Given the description of an element on the screen output the (x, y) to click on. 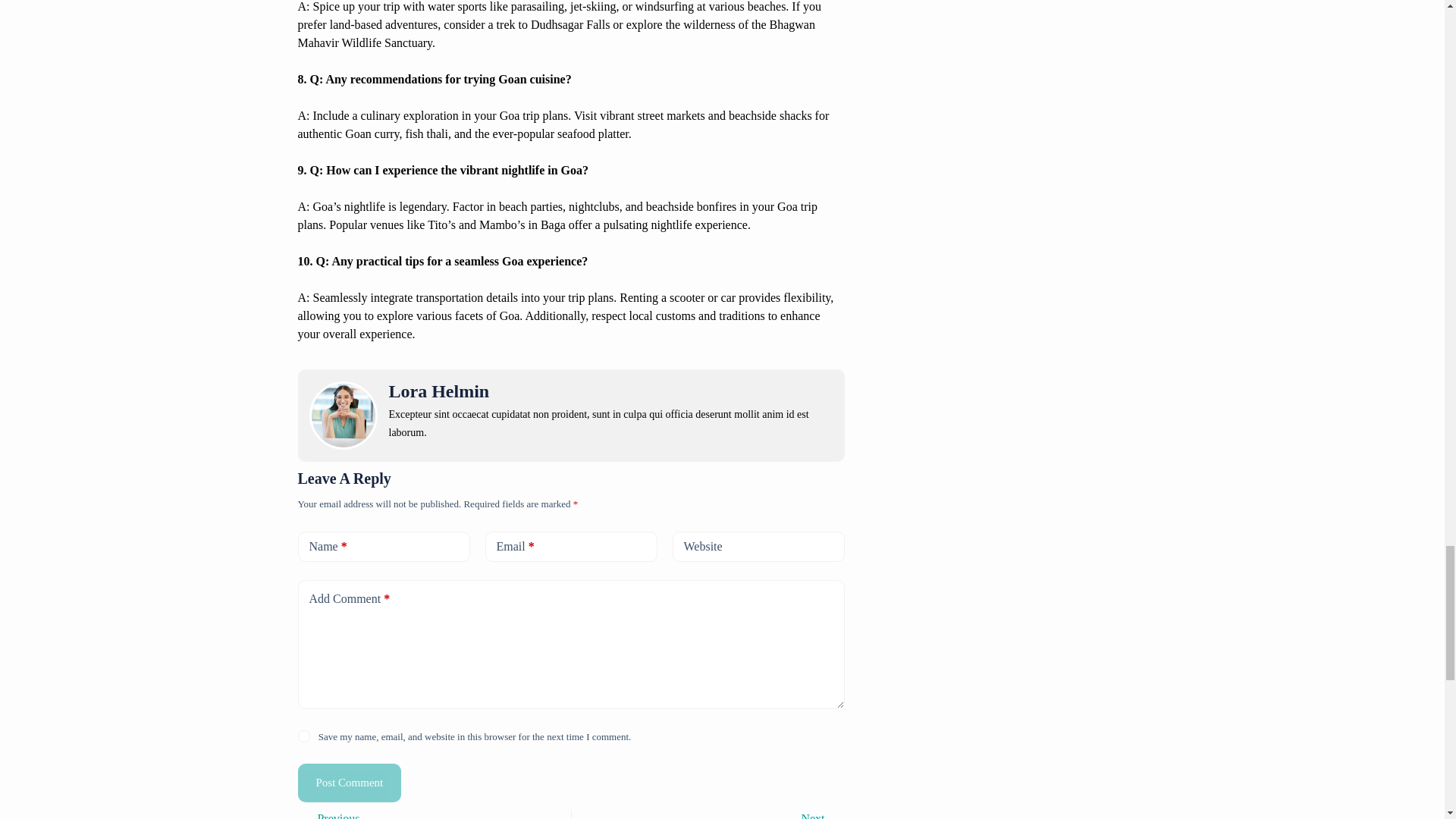
Post Comment (349, 782)
yes (302, 736)
